Given the description of an element on the screen output the (x, y) to click on. 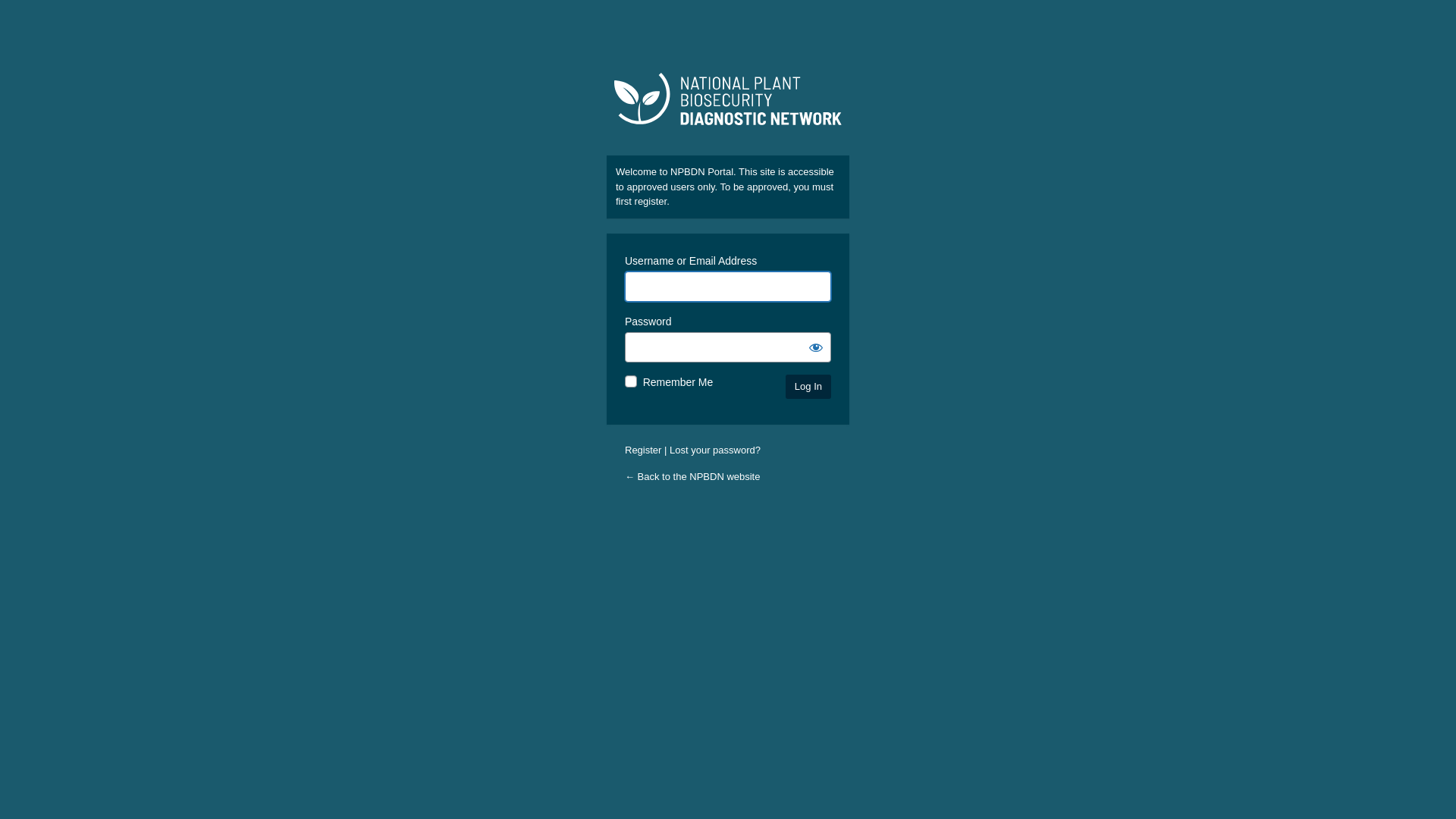
Log In Element type: text (808, 386)
NPBDN Portal Element type: text (727, 104)
Lost your password? Element type: text (714, 449)
Register Element type: text (642, 449)
